Given the description of an element on the screen output the (x, y) to click on. 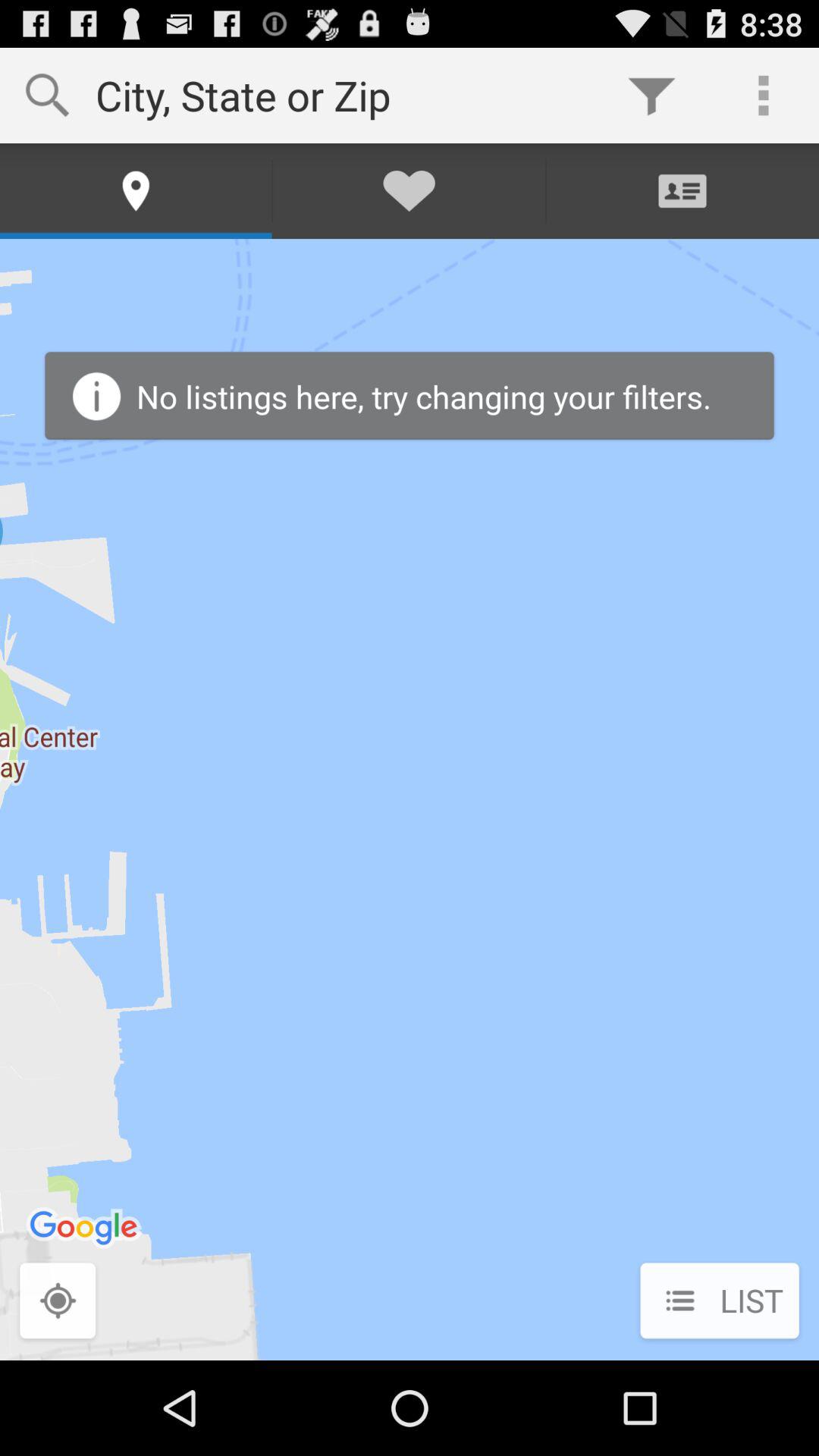
open the item below no listings here item (719, 1302)
